Given the description of an element on the screen output the (x, y) to click on. 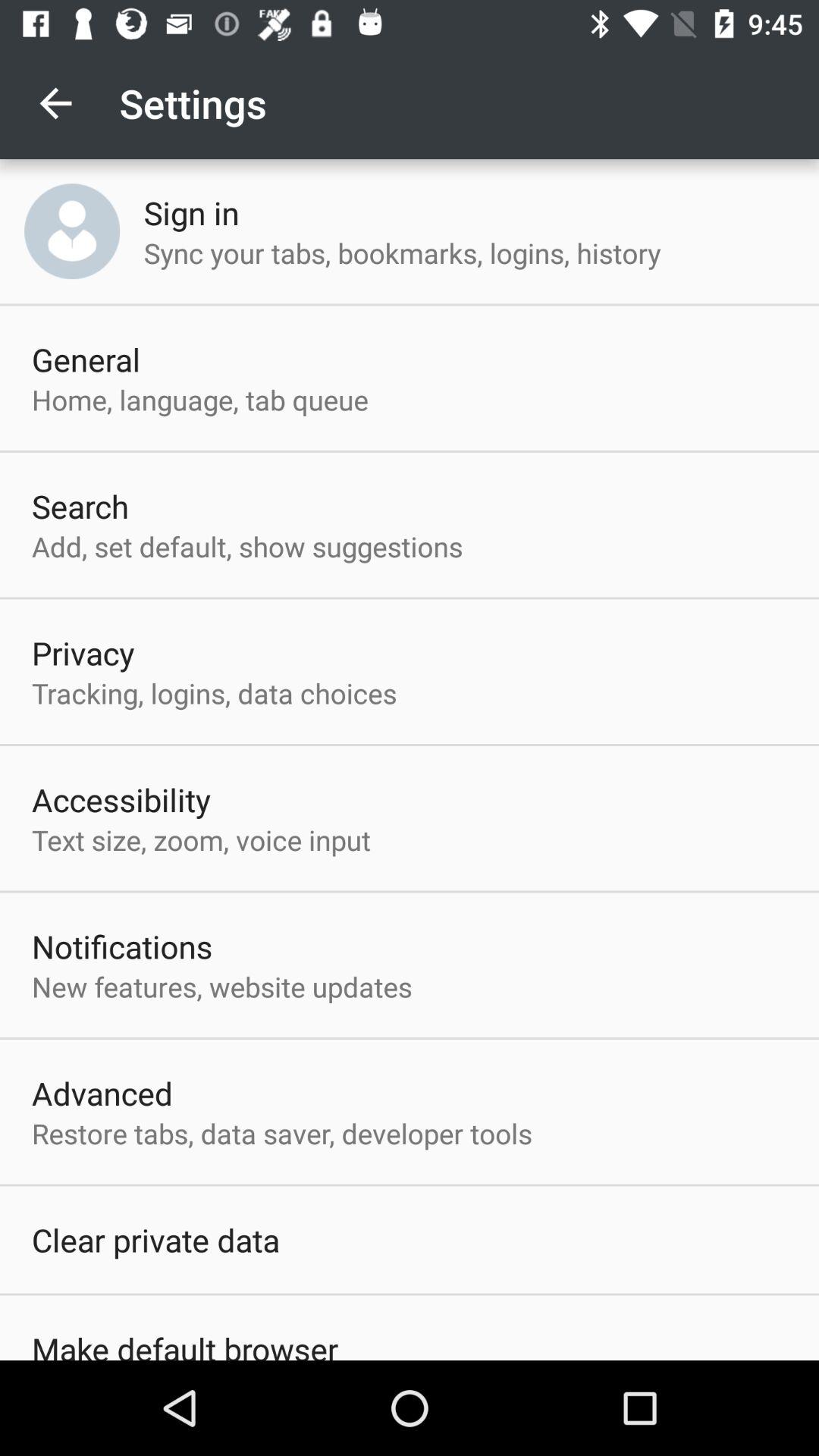
turn on icon below the tracking logins data icon (121, 799)
